Given the description of an element on the screen output the (x, y) to click on. 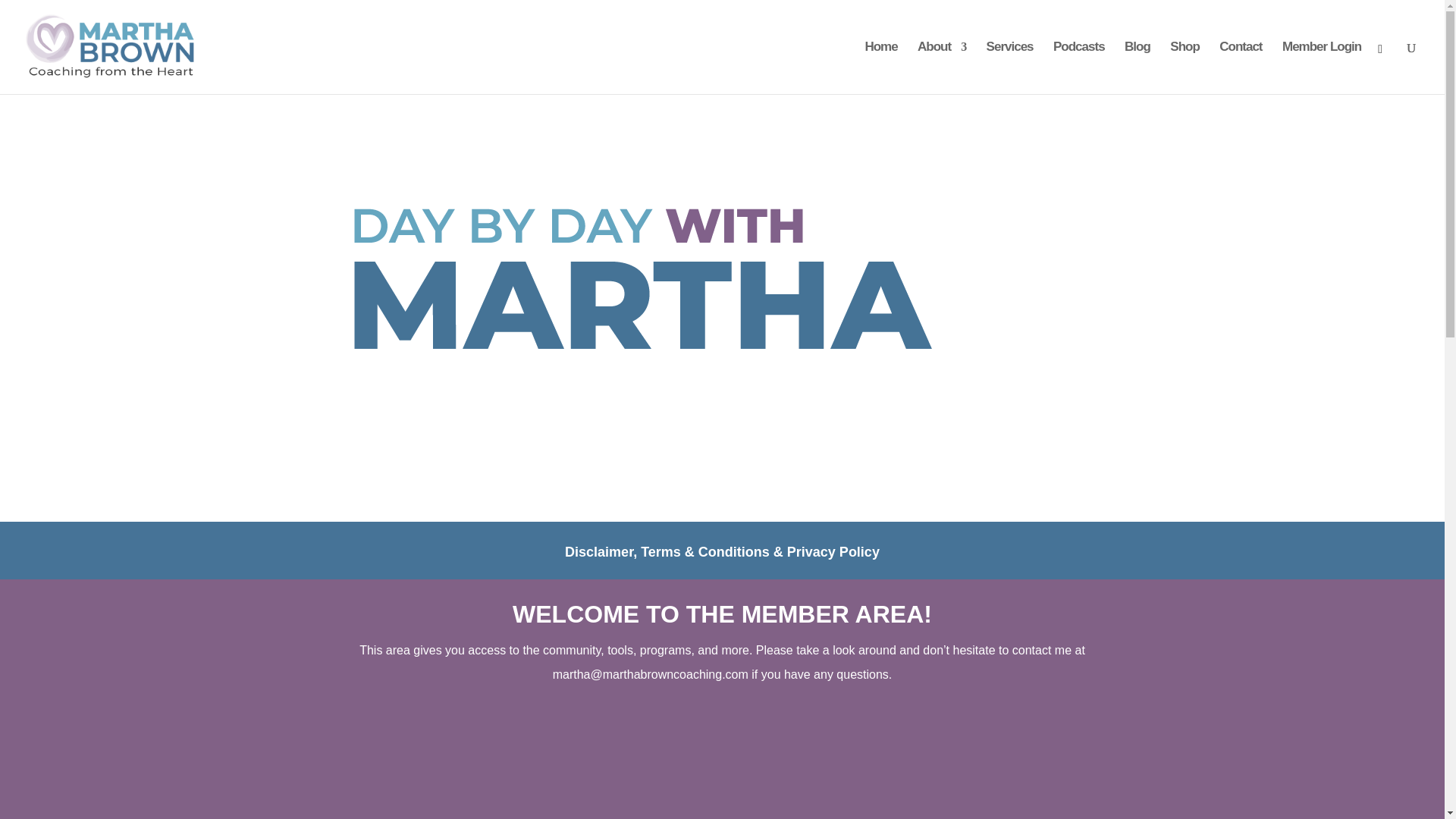
Services (1010, 67)
Podcasts (1078, 67)
About (941, 67)
Member Login (1321, 67)
